Given the description of an element on the screen output the (x, y) to click on. 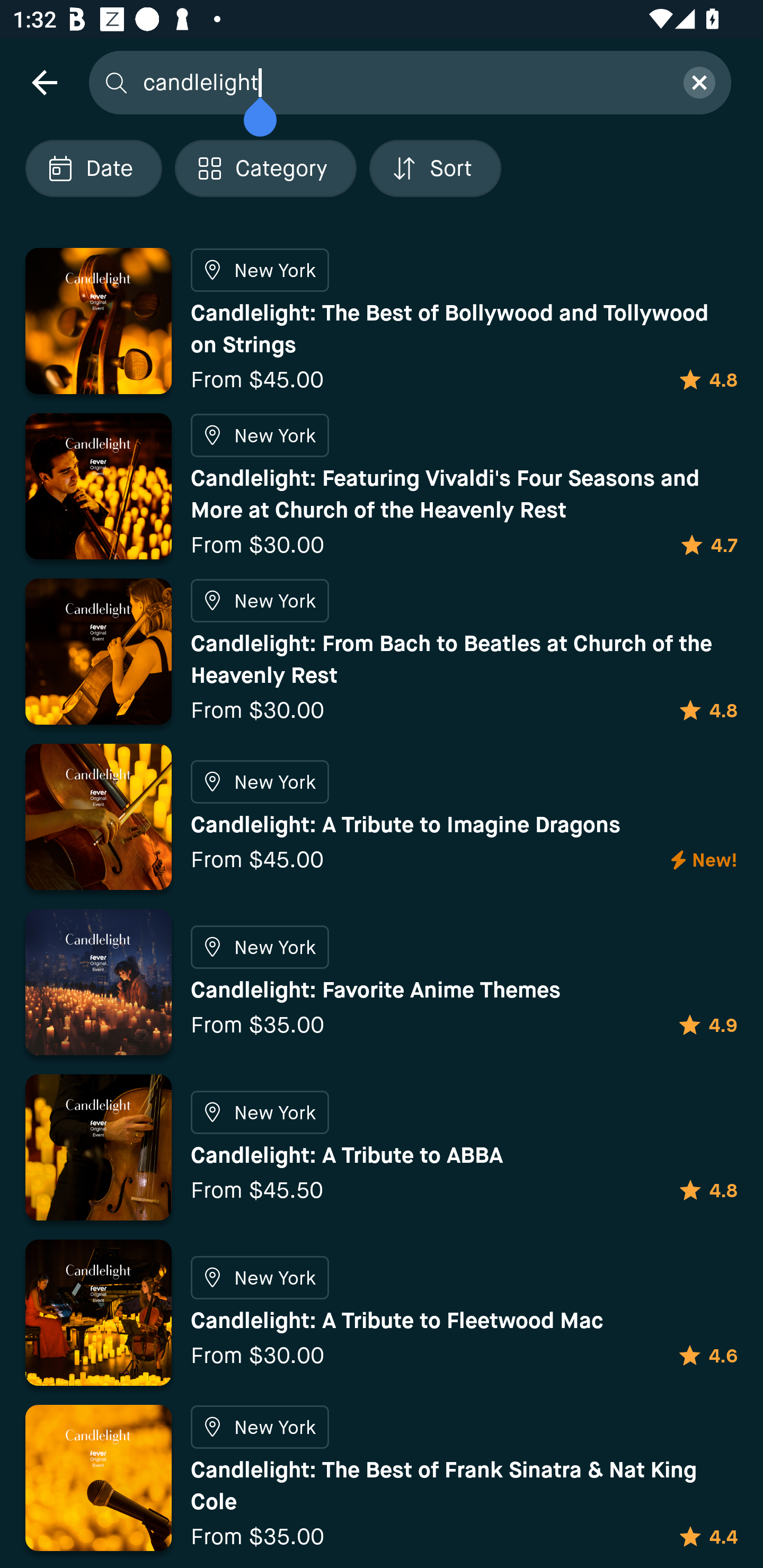
navigation icon (44, 81)
candlelight (402, 81)
Localized description Date (93, 168)
Localized description Category (265, 168)
Localized description Sort (435, 168)
